Given the description of an element on the screen output the (x, y) to click on. 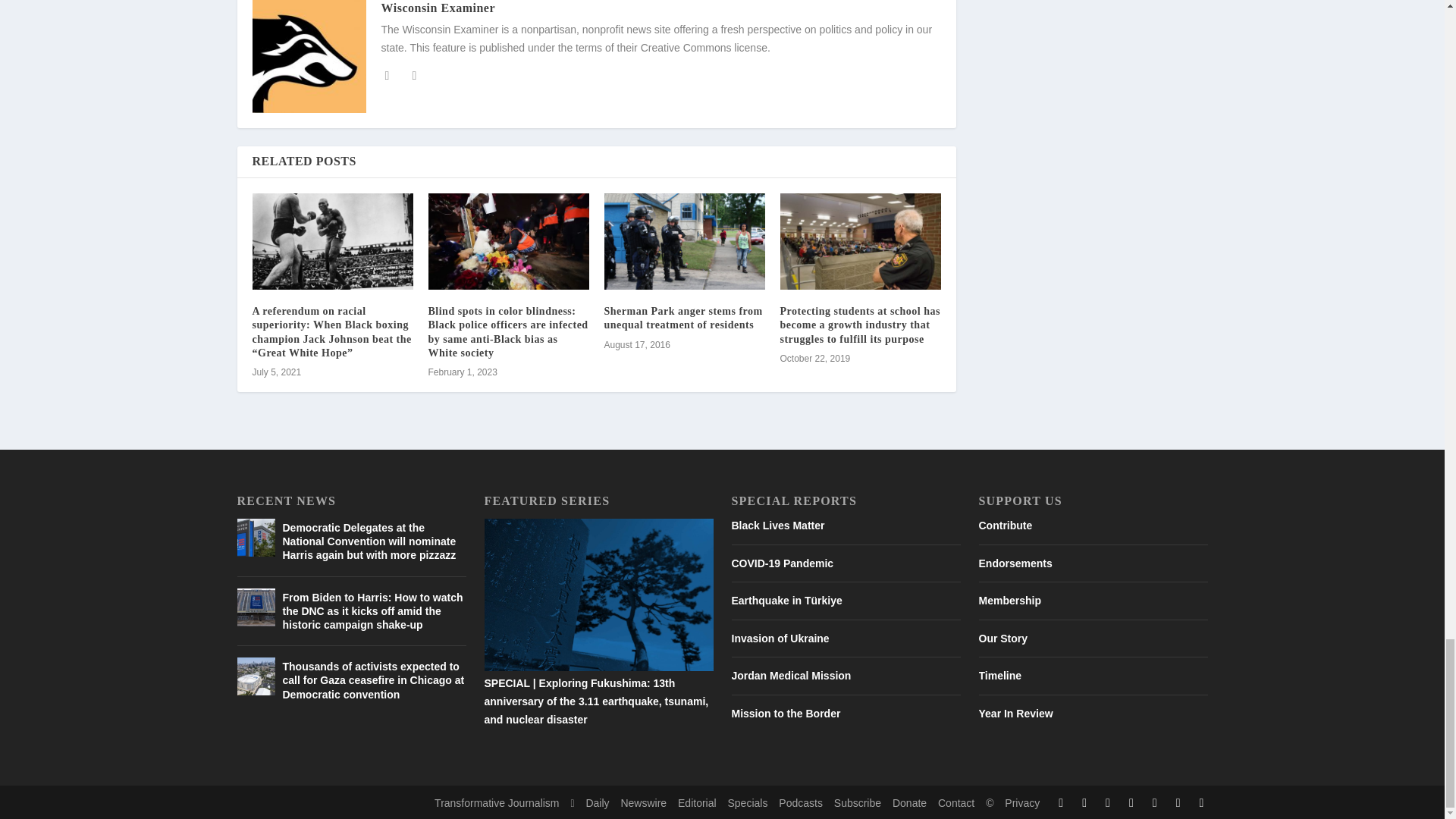
View all posts by Wisconsin Examiner (437, 7)
Sherman Park anger stems from unequal treatment of residents (684, 241)
